Given the description of an element on the screen output the (x, y) to click on. 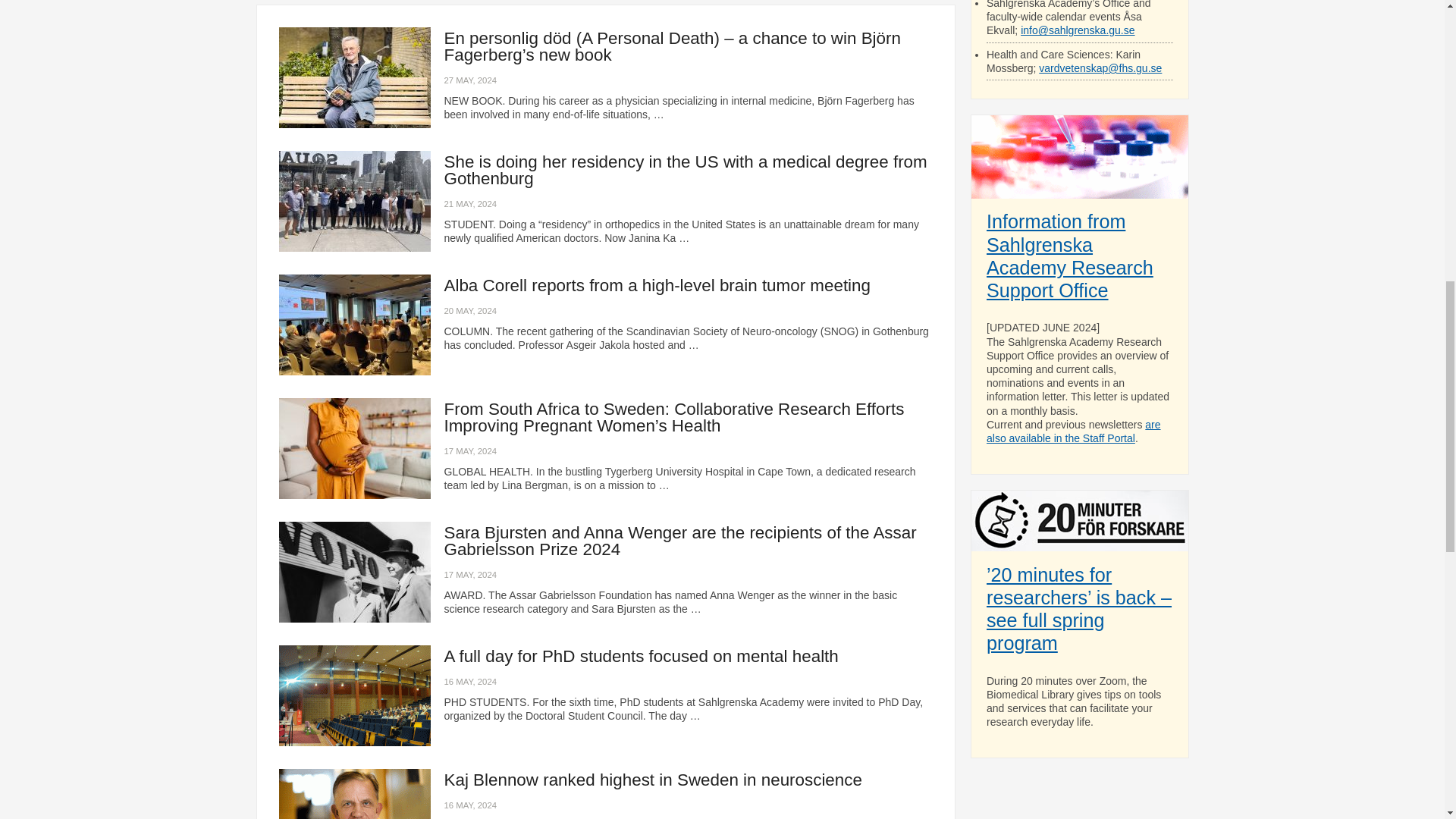
Alba Corell reports from a high-level brain tumor meeting (657, 285)
are also available in the Staff Portal (1073, 431)
Information from Sahlgrenska Academy Research Support Office (1070, 255)
